Given the description of an element on the screen output the (x, y) to click on. 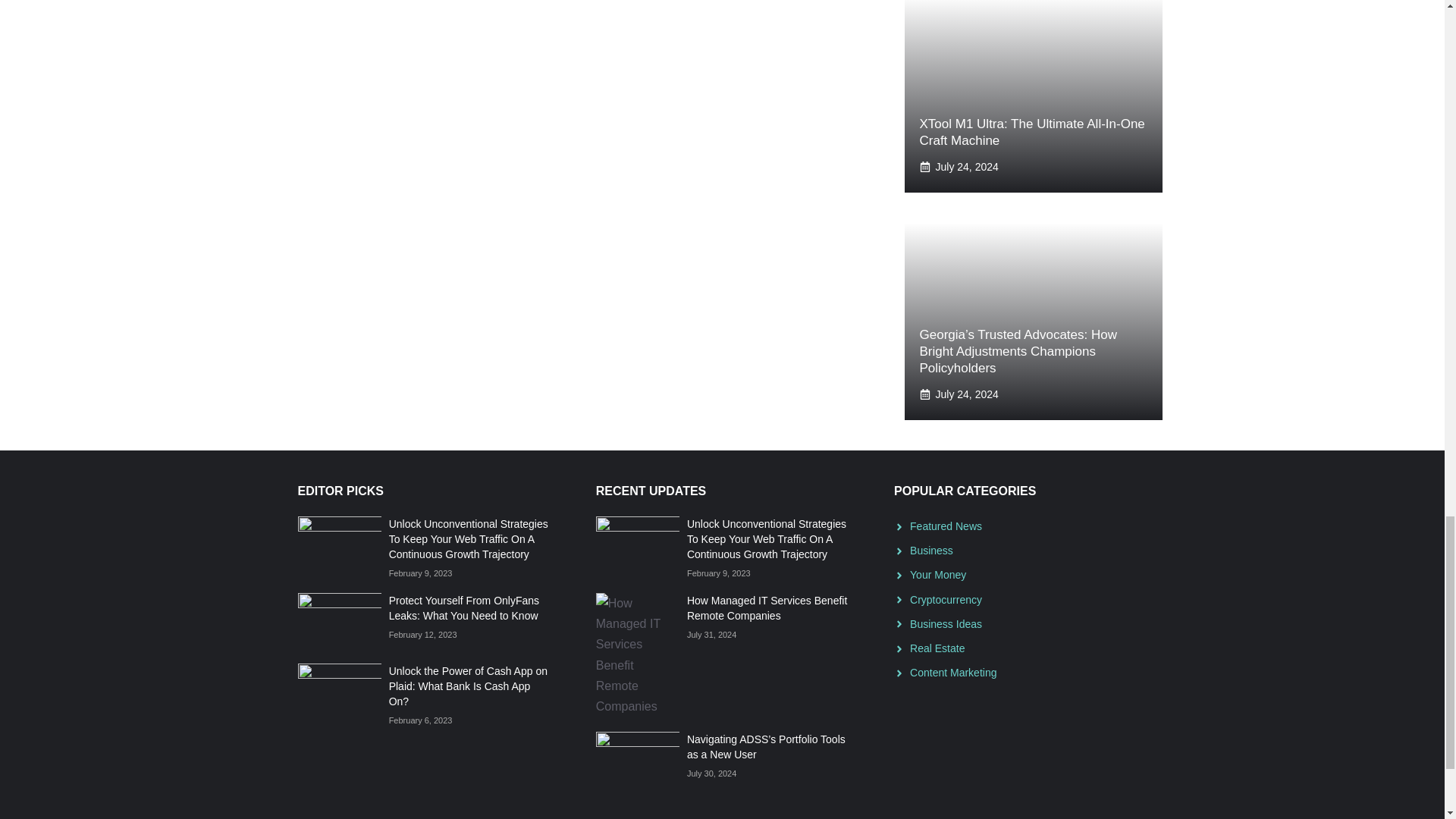
Business (931, 550)
XTool M1 Ultra: The Ultimate All-In-One Craft Machine (1031, 132)
How Managed IT Services Benefit Remote Companies (767, 607)
Protect Yourself From OnlyFans Leaks: What You Need to Know (463, 607)
Featured News (945, 526)
